Given the description of an element on the screen output the (x, y) to click on. 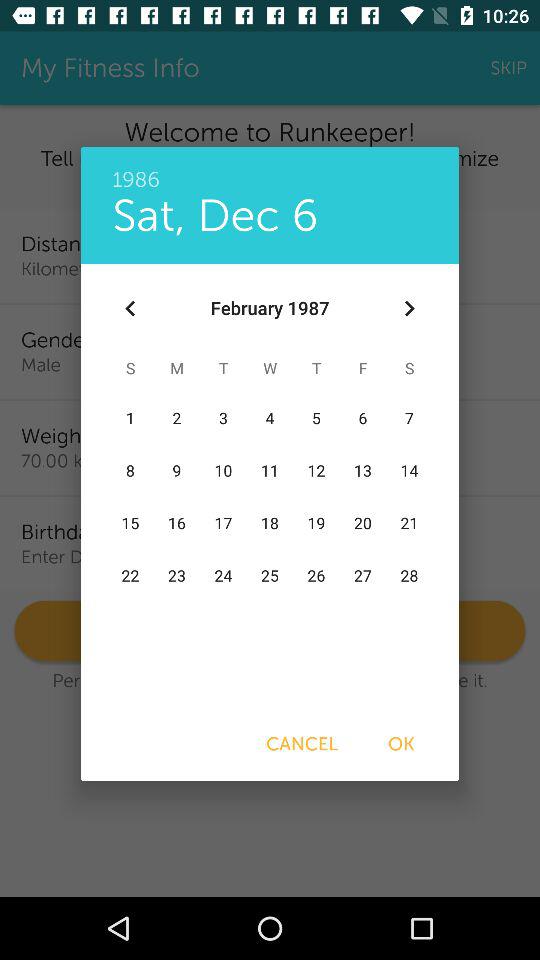
launch the icon at the top left corner (130, 308)
